Given the description of an element on the screen output the (x, y) to click on. 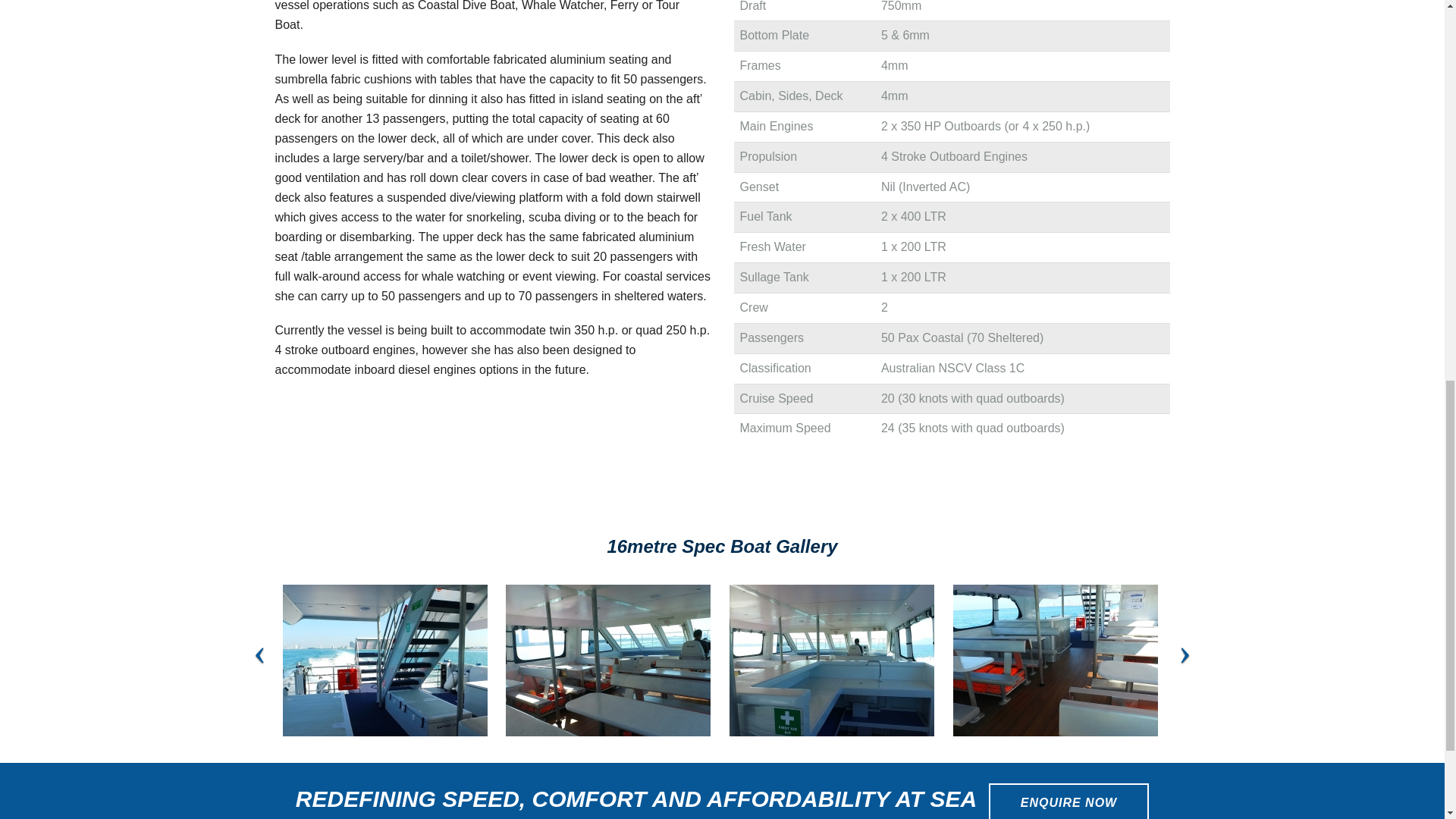
16m interior-8 (384, 660)
16m interior-4 (1055, 660)
ENQUIRE NOW (1068, 800)
16m interior-6 (831, 660)
16m interior-7 (607, 660)
